Given the description of an element on the screen output the (x, y) to click on. 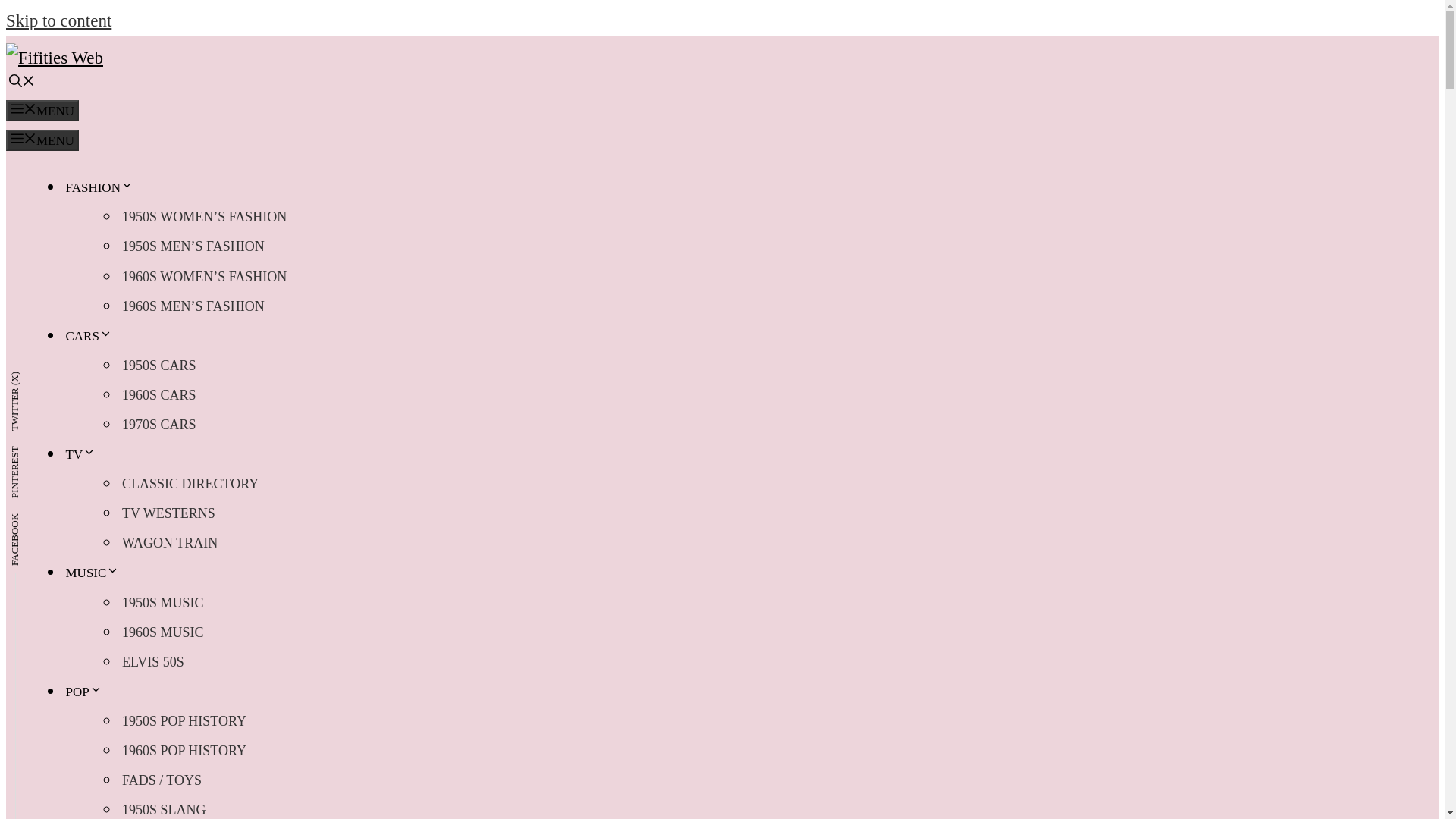
1970S CARS (159, 424)
FASHION (100, 187)
Skip to content (58, 20)
CARS (89, 336)
MENU (41, 139)
TV WESTERNS (168, 512)
WAGON TRAIN (170, 542)
MENU (41, 110)
1950S MUSIC (162, 603)
ELVIS 50S (153, 662)
MUSIC (93, 572)
CLASSIC DIRECTORY (190, 483)
1950S CARS (159, 365)
1960S MUSIC (162, 632)
1960S CARS (159, 395)
